Given the description of an element on the screen output the (x, y) to click on. 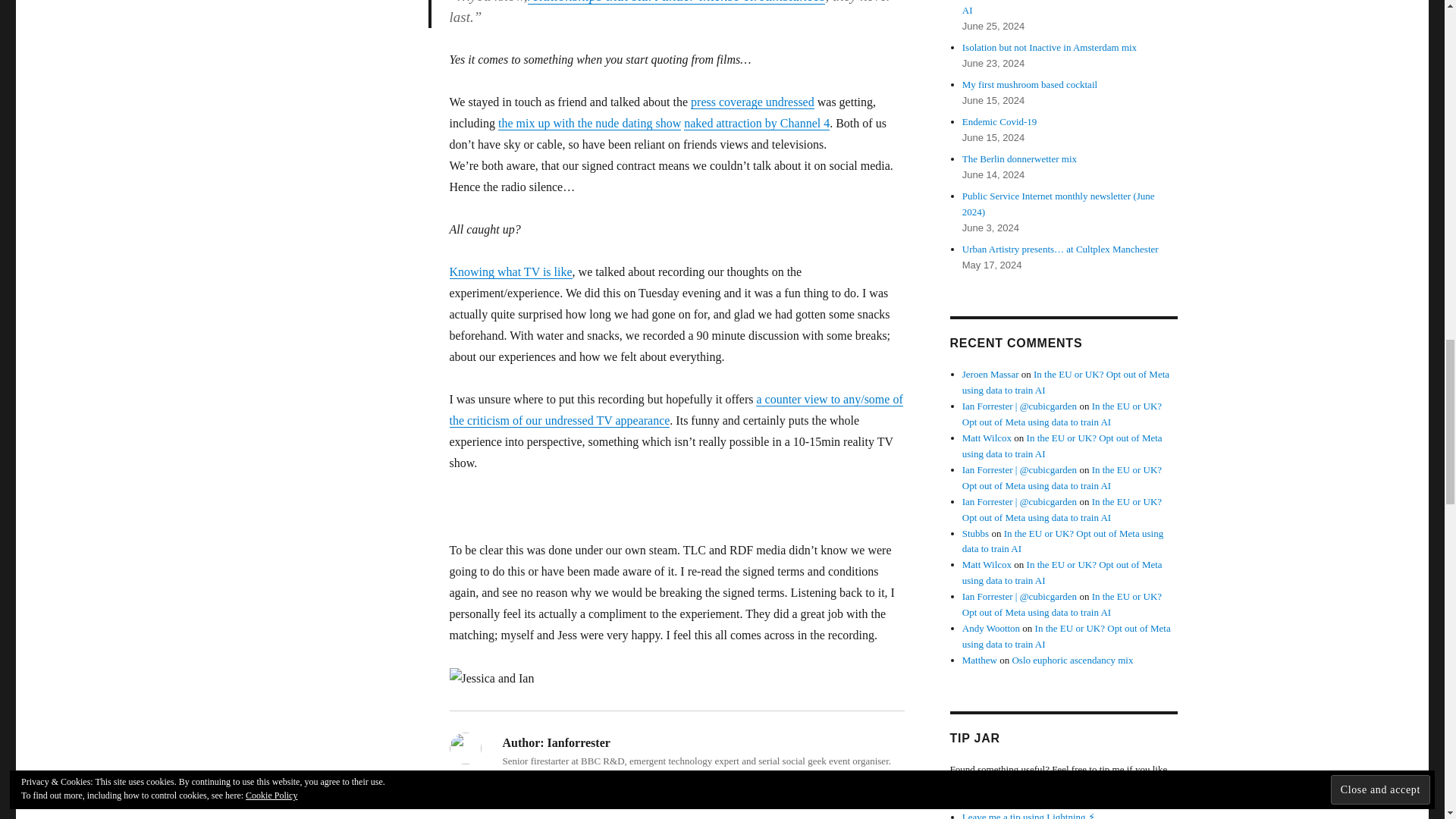
naked attraction by Channel 4 (756, 123)
the mix up with the nude dating show (589, 123)
Knowing what TV is like (510, 271)
relationships that start under intense circumstances (676, 2)
View all posts by Ianforrester (560, 792)
press coverage undressed (751, 101)
